Given the description of an element on the screen output the (x, y) to click on. 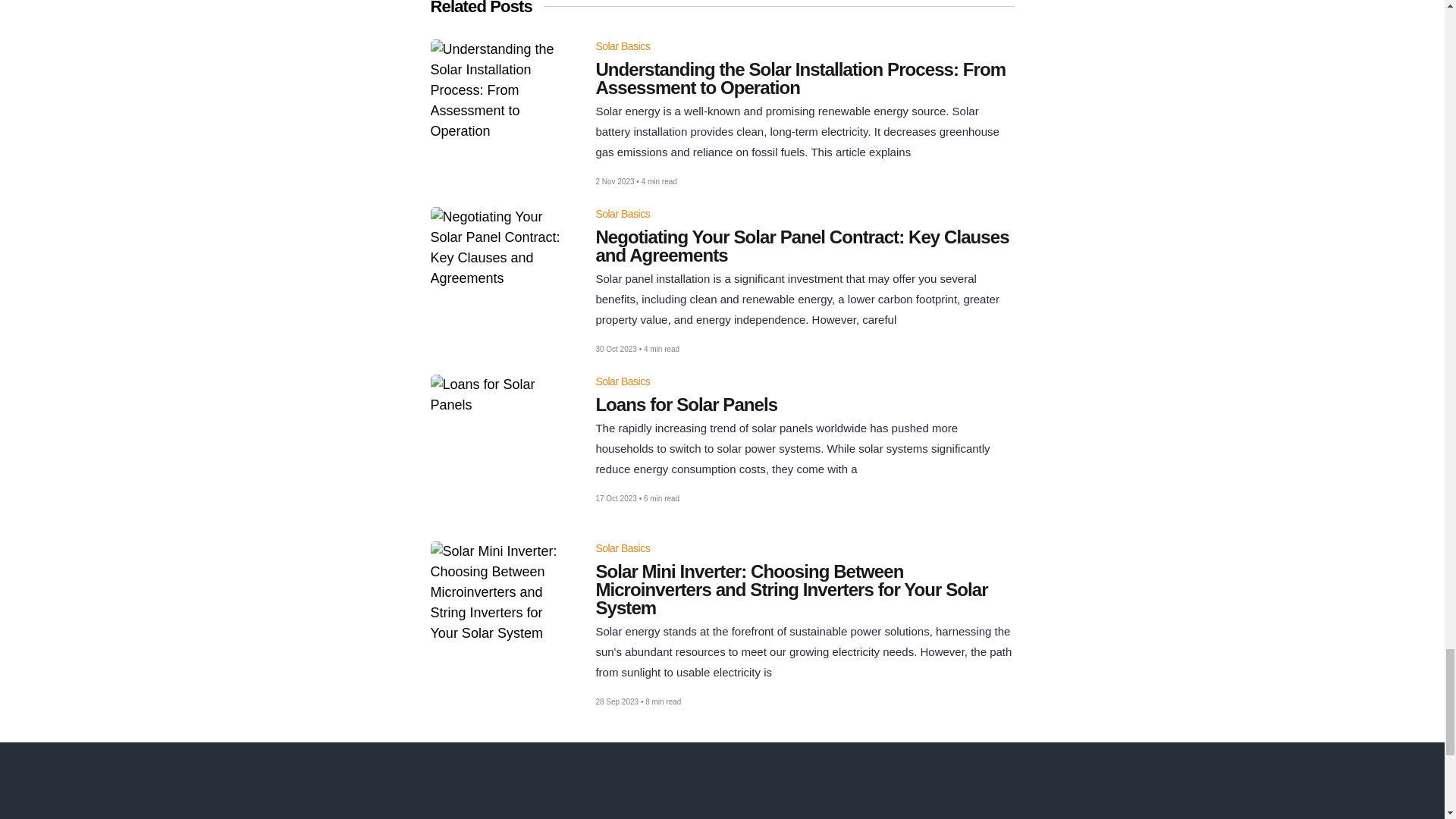
Solar Basics (622, 214)
Solar Basics (622, 548)
Loans for Solar Panels (804, 404)
Solar Basics (622, 381)
Solar Basics (622, 46)
